Given the description of an element on the screen output the (x, y) to click on. 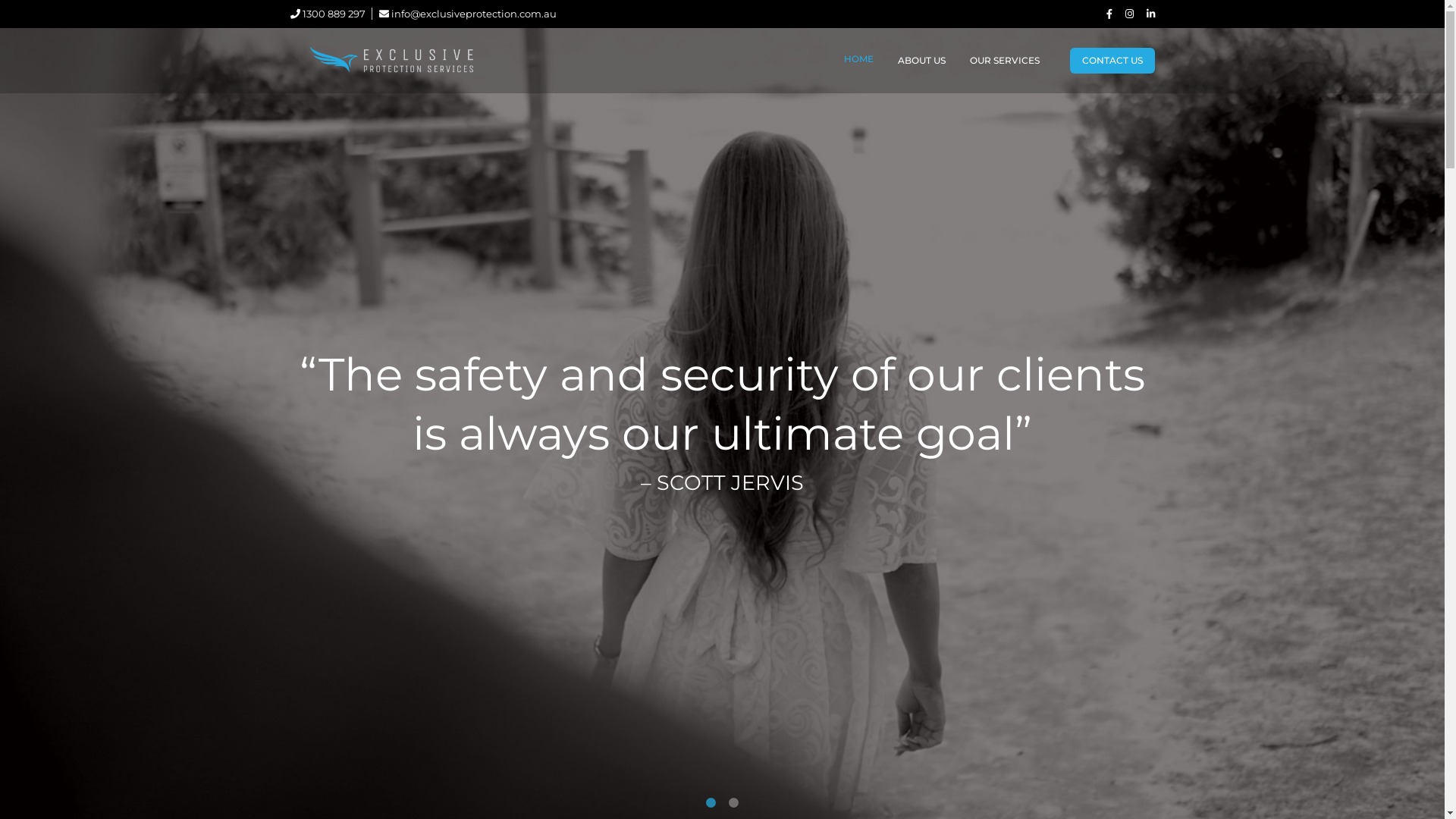
info@exclusiveprotection.com.au Element type: text (467, 13)
1 Element type: text (710, 802)
ABOUT US Element type: text (921, 60)
CONTACT US Element type: text (1111, 60)
2 Element type: text (733, 802)
1300 889 297 Element type: text (326, 13)
OUR SERVICES Element type: text (1004, 60)
HOME Element type: text (857, 59)
